Given the description of an element on the screen output the (x, y) to click on. 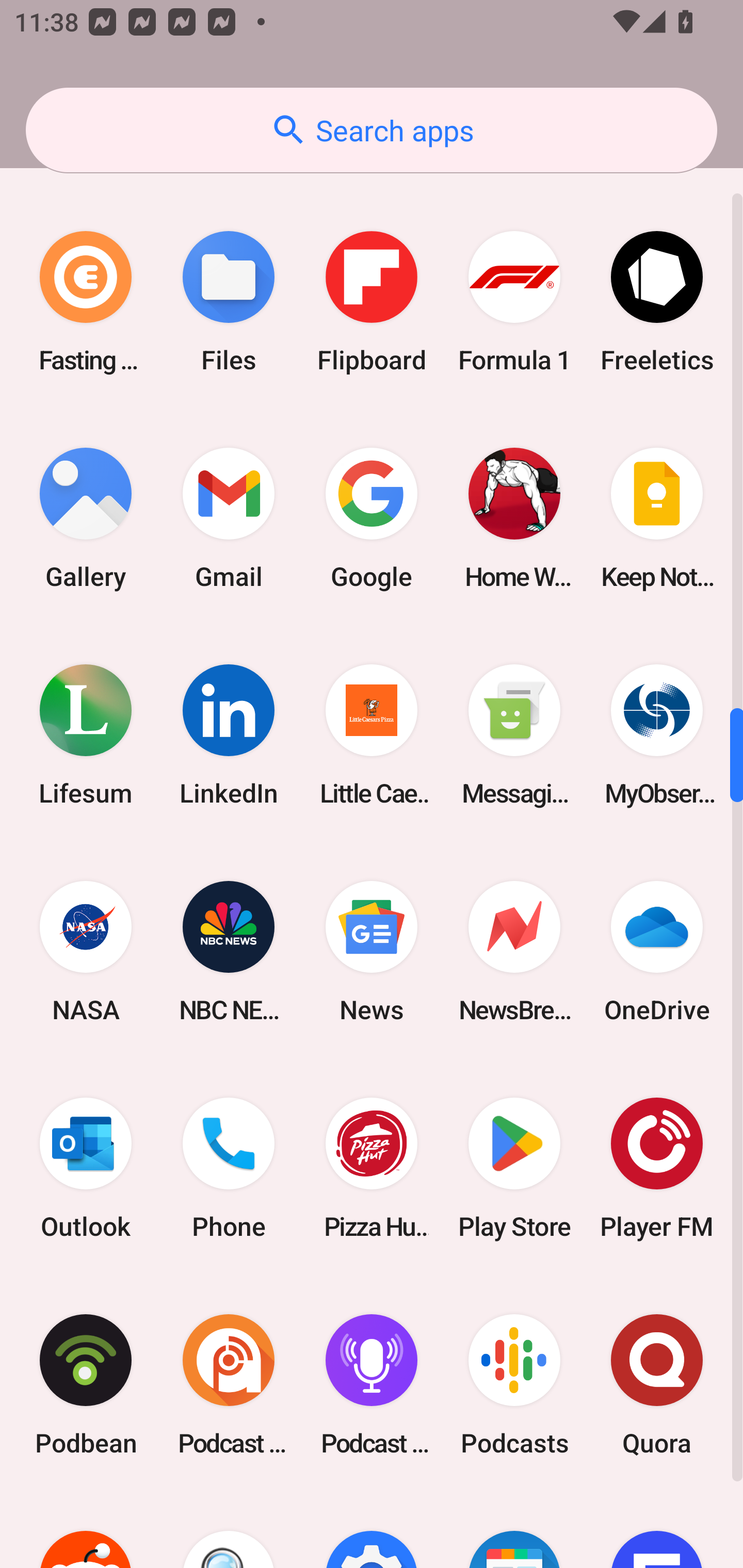
  Search apps (371, 130)
Fasting Coach (85, 301)
Files (228, 301)
Flipboard (371, 301)
Formula 1 (514, 301)
Freeletics (656, 301)
Gallery (85, 518)
Gmail (228, 518)
Google (371, 518)
Home Workout (514, 518)
Keep Notes (656, 518)
Lifesum (85, 735)
LinkedIn (228, 735)
Little Caesars Pizza (371, 735)
Messaging (514, 735)
MyObservatory (656, 735)
NASA (85, 951)
NBC NEWS (228, 951)
News (371, 951)
NewsBreak (514, 951)
OneDrive (656, 951)
Outlook (85, 1167)
Phone (228, 1167)
Pizza Hut HK & Macau (371, 1167)
Play Store (514, 1167)
Player FM (656, 1167)
Podbean (85, 1384)
Podcast Addict (228, 1384)
Podcast Player (371, 1384)
Podcasts (514, 1384)
Quora (656, 1384)
